Given the description of an element on the screen output the (x, y) to click on. 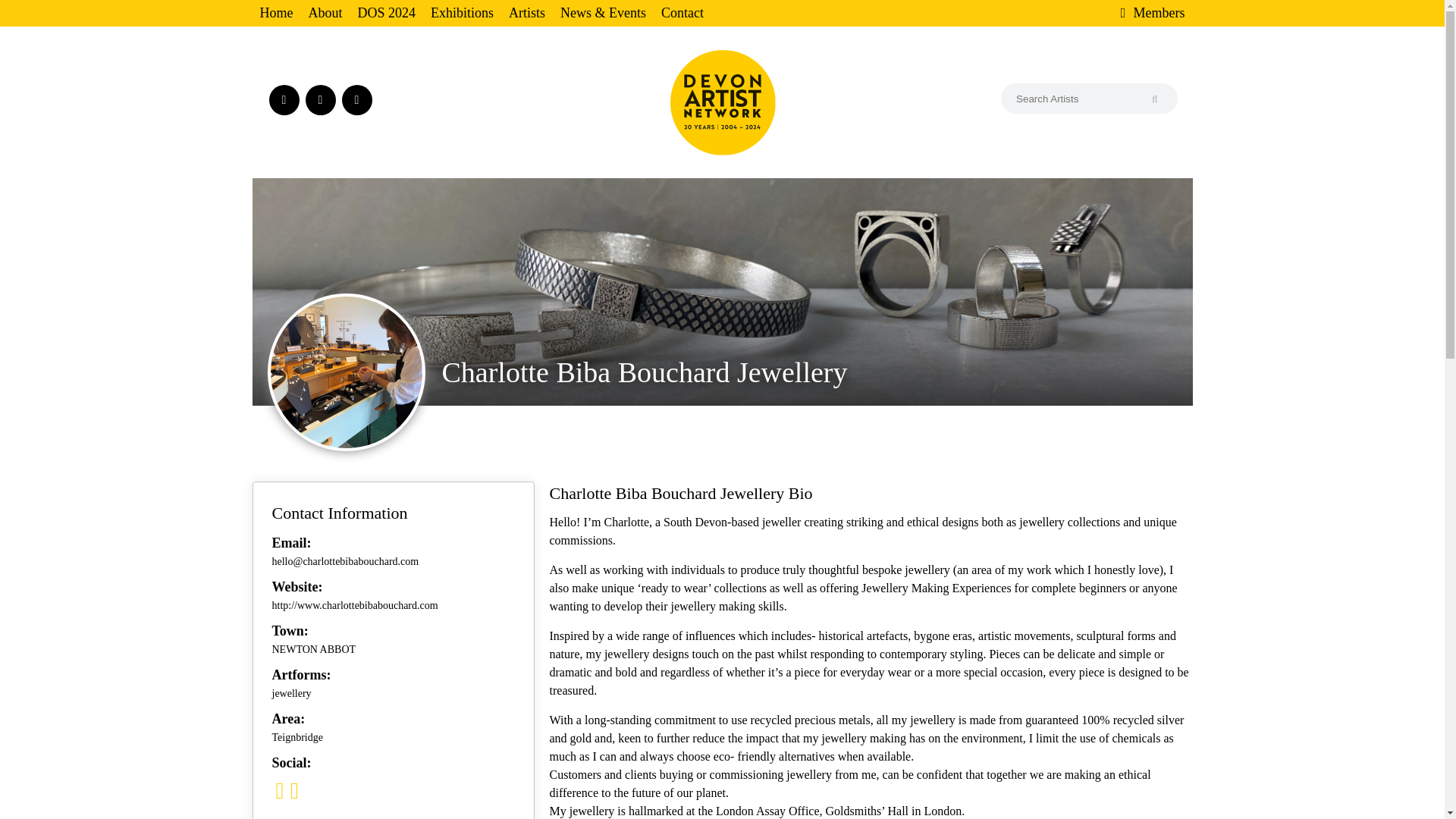
Members (1127, 13)
Exhibitions (461, 13)
Artists (526, 13)
DOS 2024 (386, 13)
Home (275, 13)
Contact (682, 13)
About (324, 13)
